Given the description of an element on the screen output the (x, y) to click on. 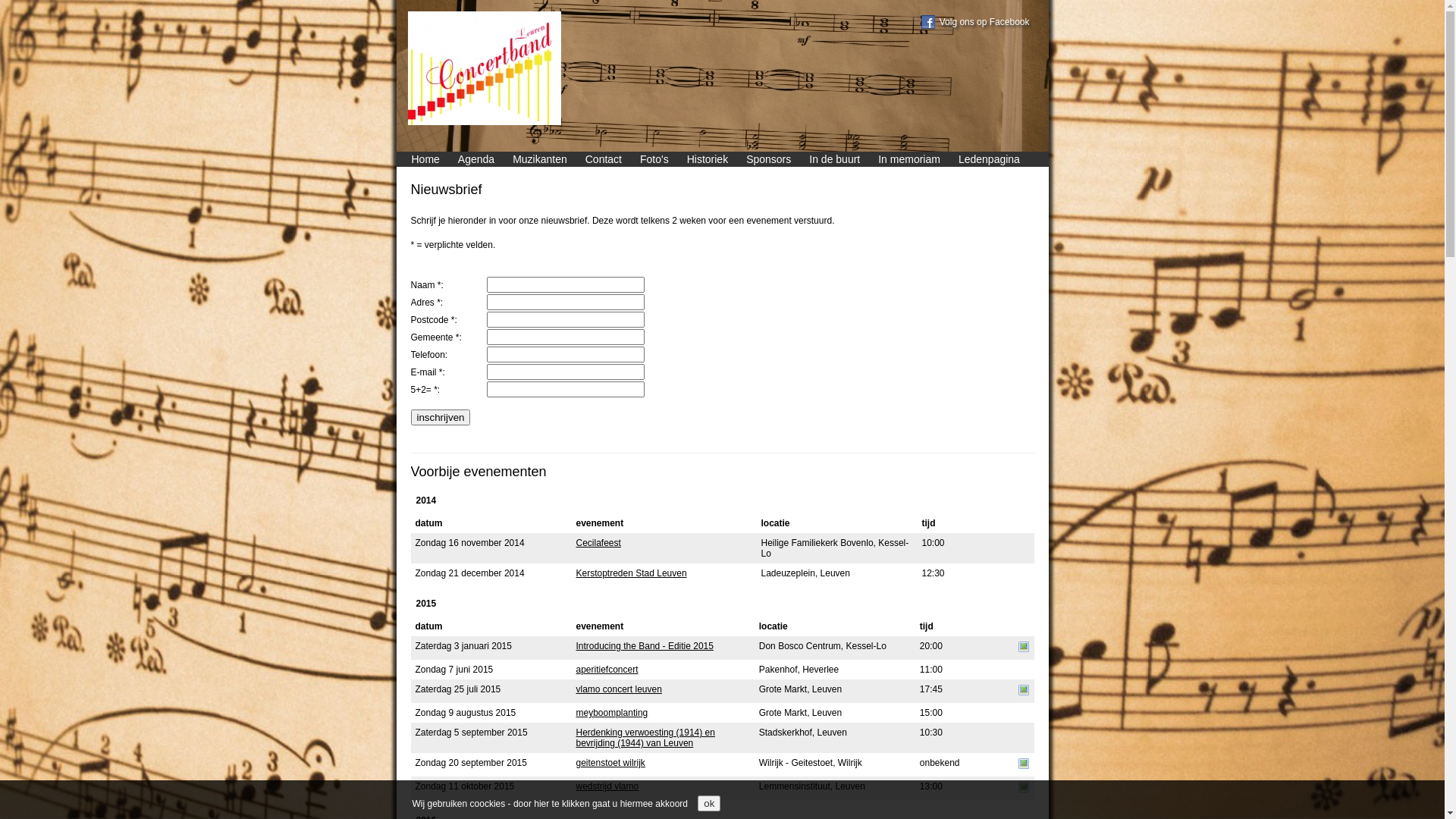
VLAMO Element type: hover (1023, 692)
aperitiefconcert Element type: text (607, 669)
nieuwjaarsconcert 2015 Element type: hover (1023, 649)
Introducing the Band - Editie 2015 Element type: text (644, 645)
In de buurt Element type: text (834, 158)
Ledenpagina Element type: text (989, 158)
Kerstoptreden Stad Leuven Element type: text (631, 572)
wedstrijd vlamo Element type: text (607, 786)
Sponsors Element type: text (768, 158)
VLAMO wedstrijd Element type: hover (1023, 789)
vlamo concert leuven Element type: text (619, 689)
inschrijven Element type: text (440, 417)
Contact Element type: text (603, 158)
Historiek Element type: text (707, 158)
ok Element type: text (708, 803)
Volg ons op Facebook Element type: text (984, 21)
meyboomplanting Element type: text (612, 712)
Muzikanten Element type: text (539, 158)
In memoriam Element type: text (909, 158)
Home Element type: text (424, 158)
geitenstoet wilrijk Element type: text (610, 762)
geitenstoet Element type: hover (1023, 766)
Cecilafeest Element type: text (598, 542)
Agenda Element type: text (475, 158)
Foto's Element type: text (653, 158)
